Given the description of an element on the screen output the (x, y) to click on. 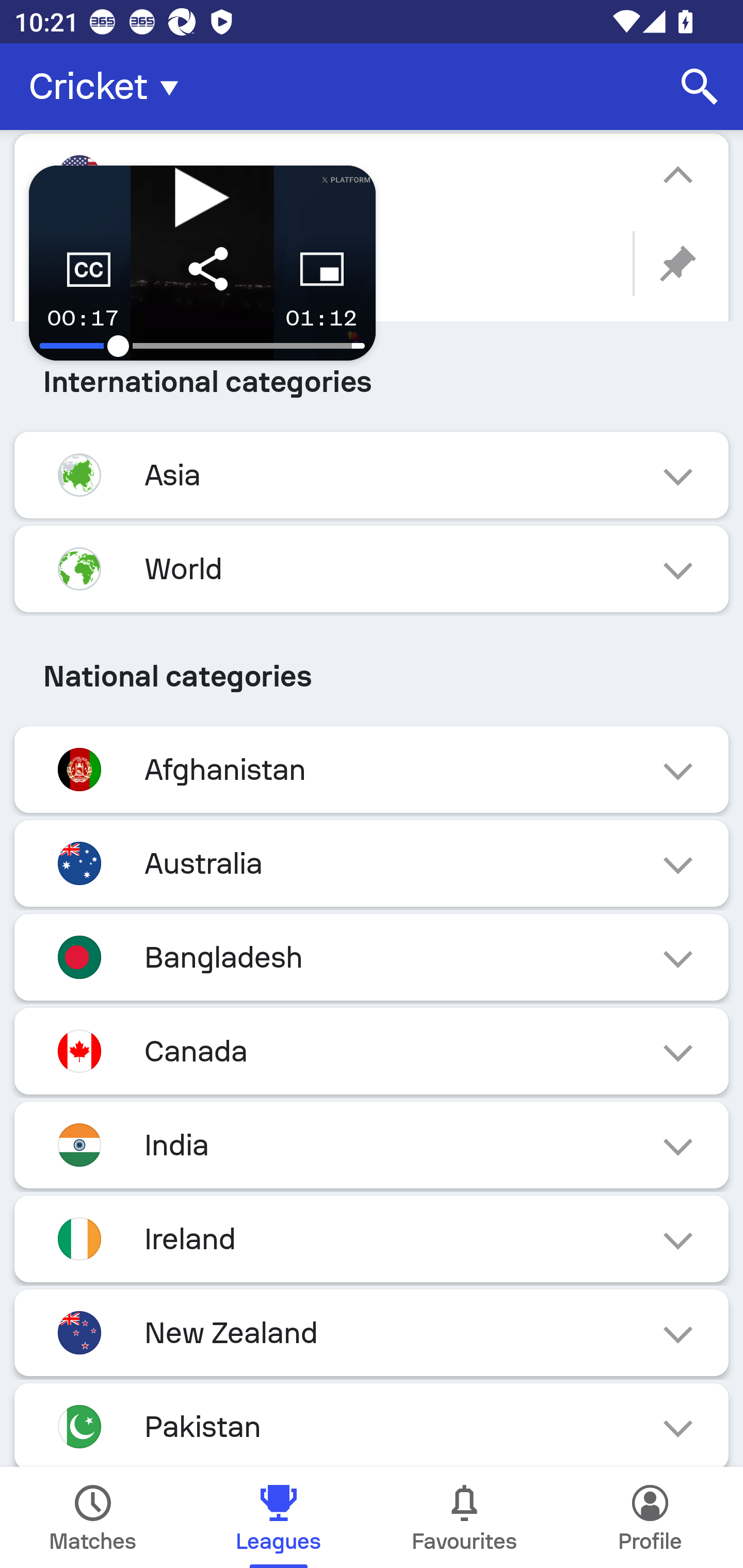
Cricket (109, 86)
Search (699, 86)
International categories (371, 381)
Asia (371, 475)
World (371, 568)
National categories (371, 676)
Afghanistan (371, 768)
Australia (371, 863)
Bangladesh (371, 957)
Canada (371, 1051)
India (371, 1145)
Ireland (371, 1238)
New Zealand (371, 1332)
Pakistan (371, 1424)
Matches (92, 1517)
Favourites (464, 1517)
Profile (650, 1517)
